Given the description of an element on the screen output the (x, y) to click on. 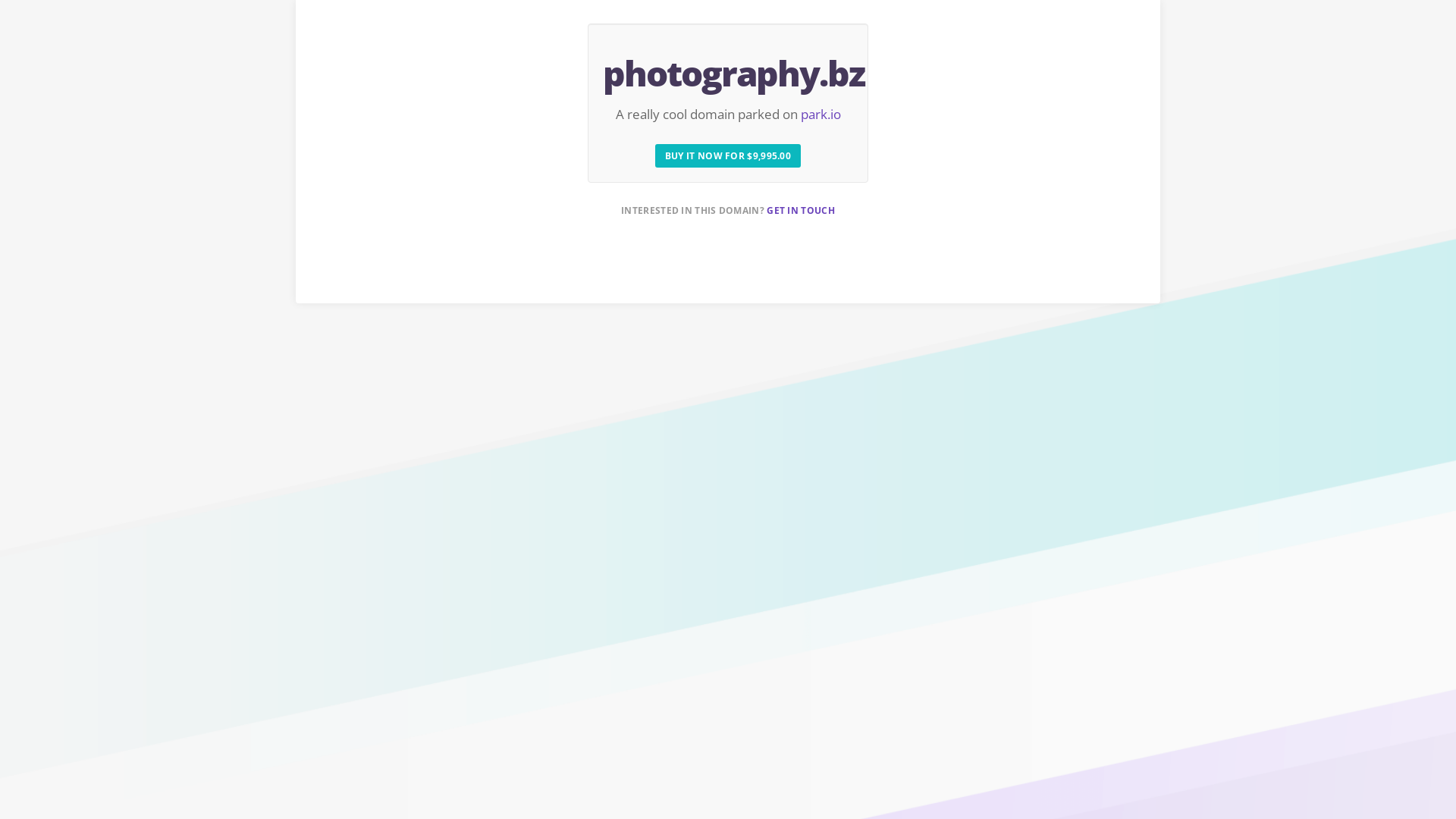
GET IN TOUCH Element type: text (800, 209)
BUY IT NOW FOR $9,995.00 Element type: text (727, 155)
park.io Element type: text (820, 113)
